Given the description of an element on the screen output the (x, y) to click on. 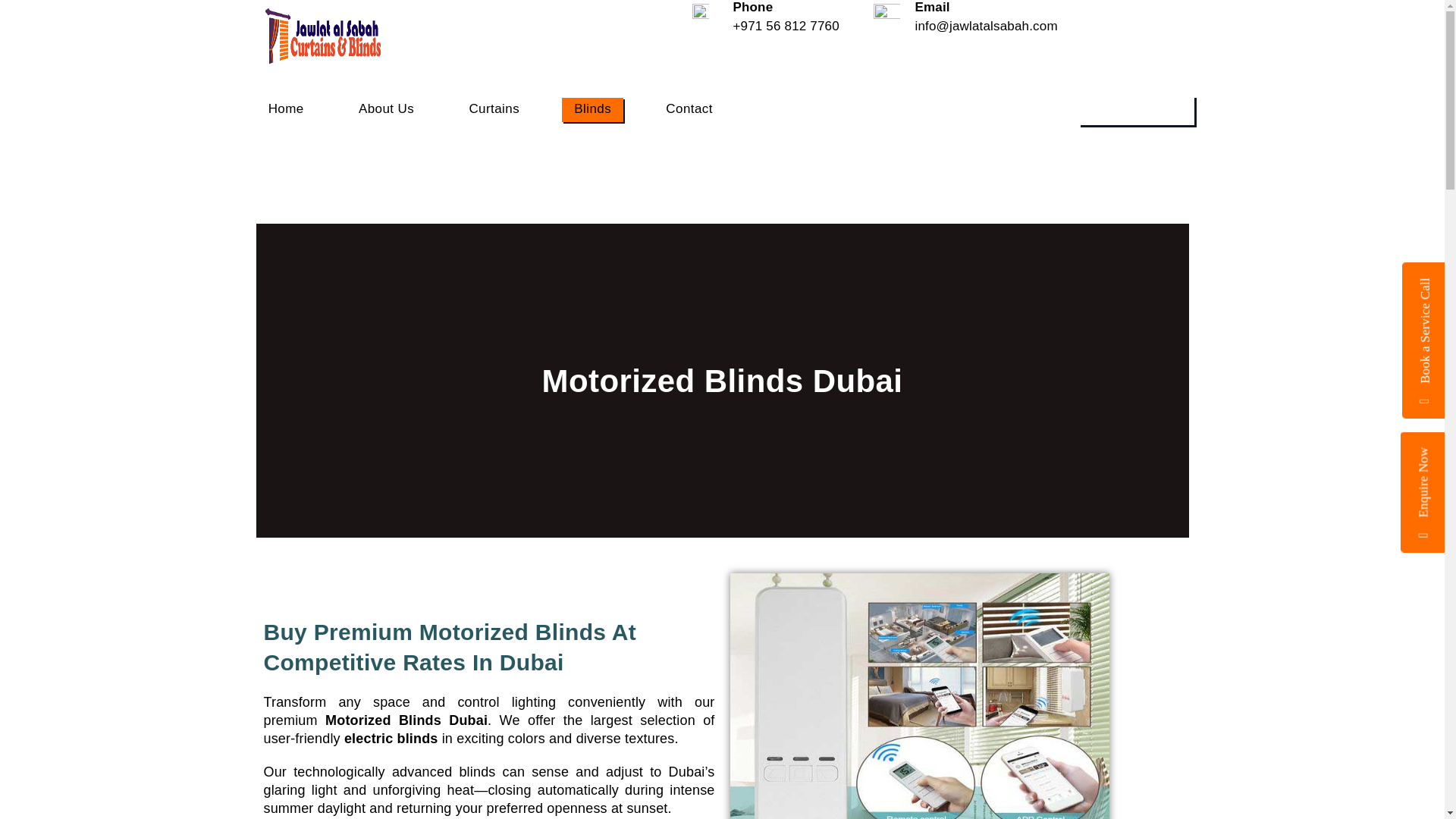
Blinds (592, 109)
Curtains (494, 109)
Phone (752, 7)
Email (931, 7)
About Us (386, 109)
Get Quote (1134, 110)
Home (285, 109)
phone-icon (699, 12)
Phone (752, 7)
Email (931, 7)
